Given the description of an element on the screen output the (x, y) to click on. 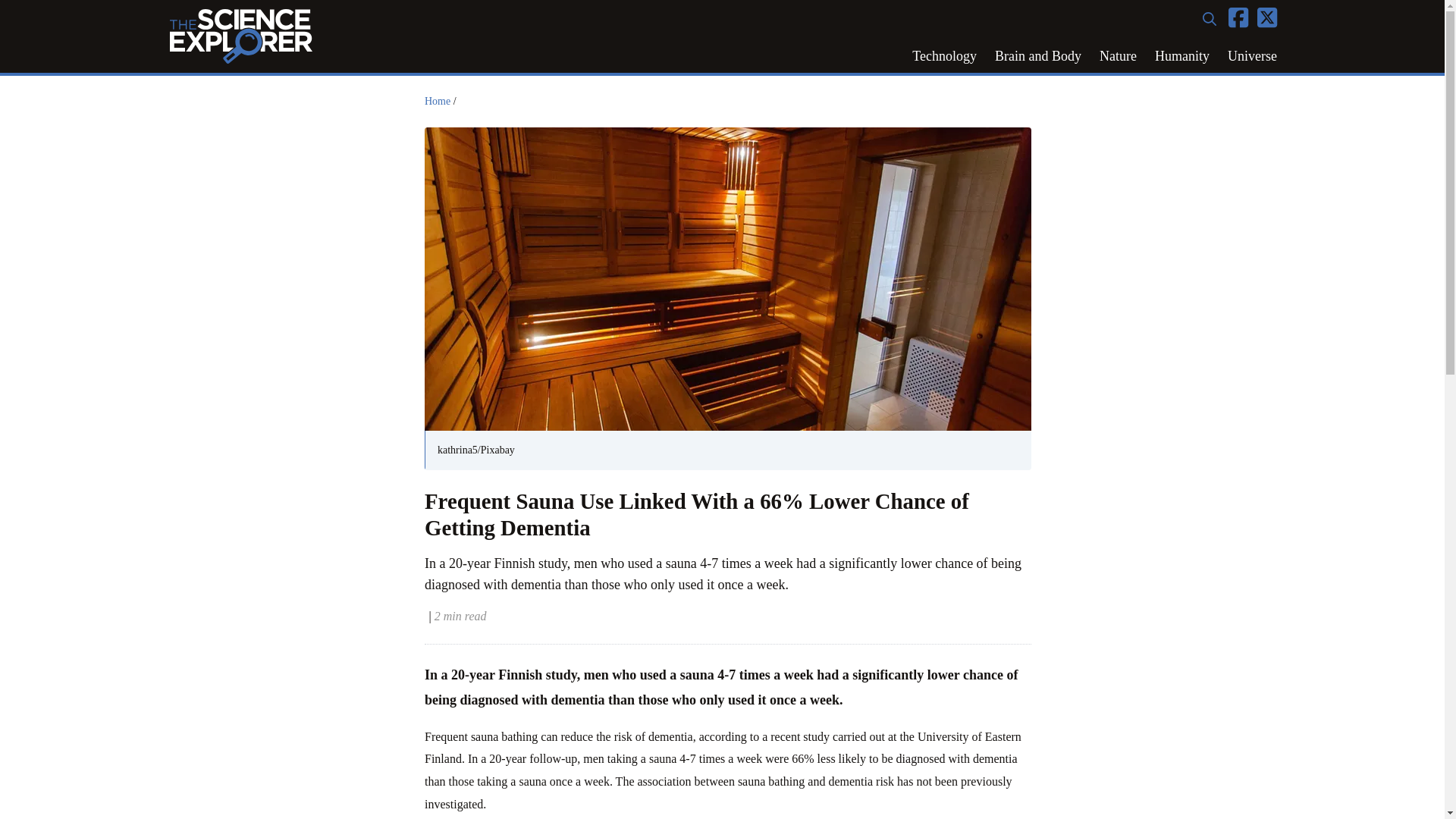
Technology (943, 55)
Home (437, 101)
Humanity (1181, 55)
Brain and Body (1037, 55)
Universe (1251, 55)
Nature (1117, 55)
